Given the description of an element on the screen output the (x, y) to click on. 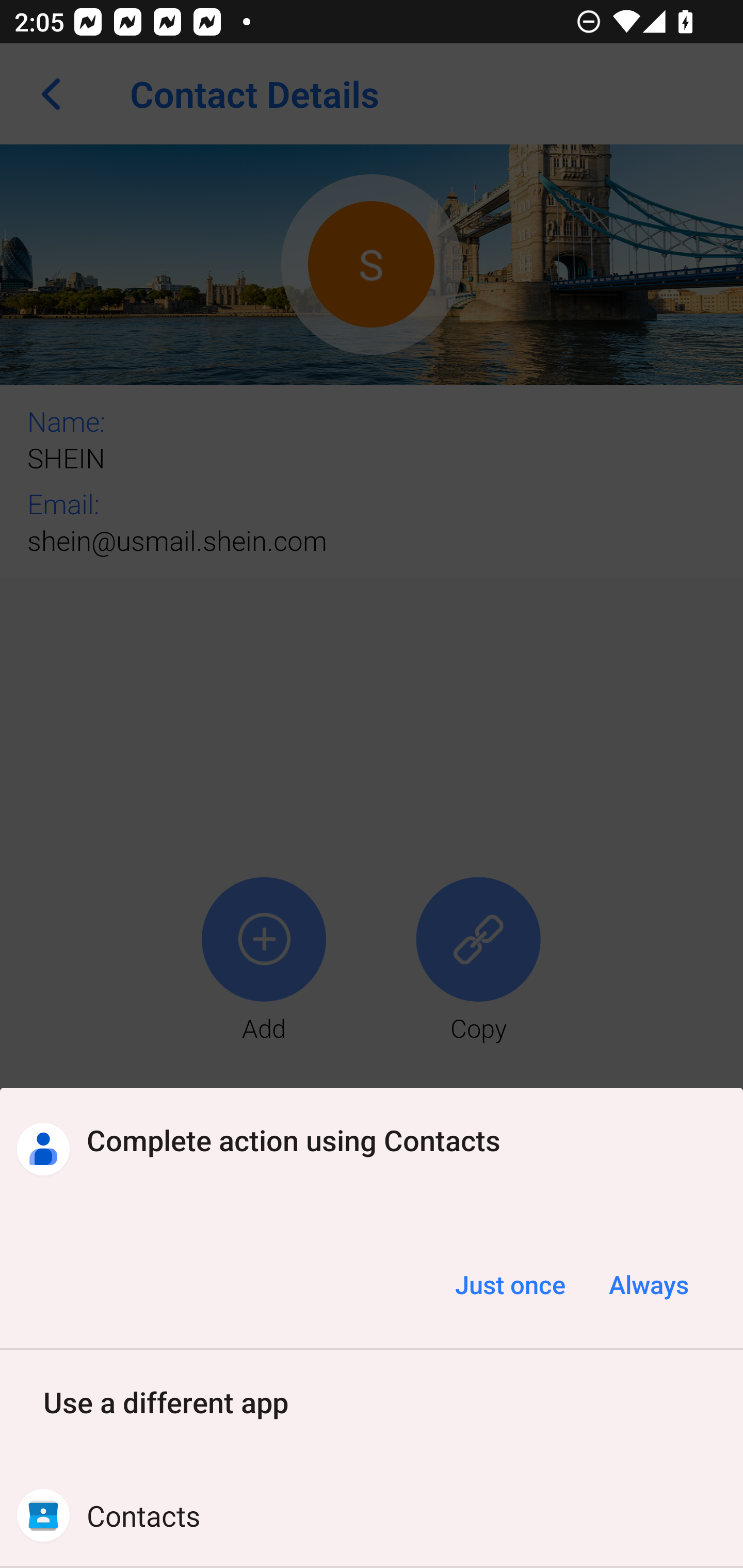
Just once (509, 1283)
Always (648, 1283)
Contacts (371, 1515)
